Given the description of an element on the screen output the (x, y) to click on. 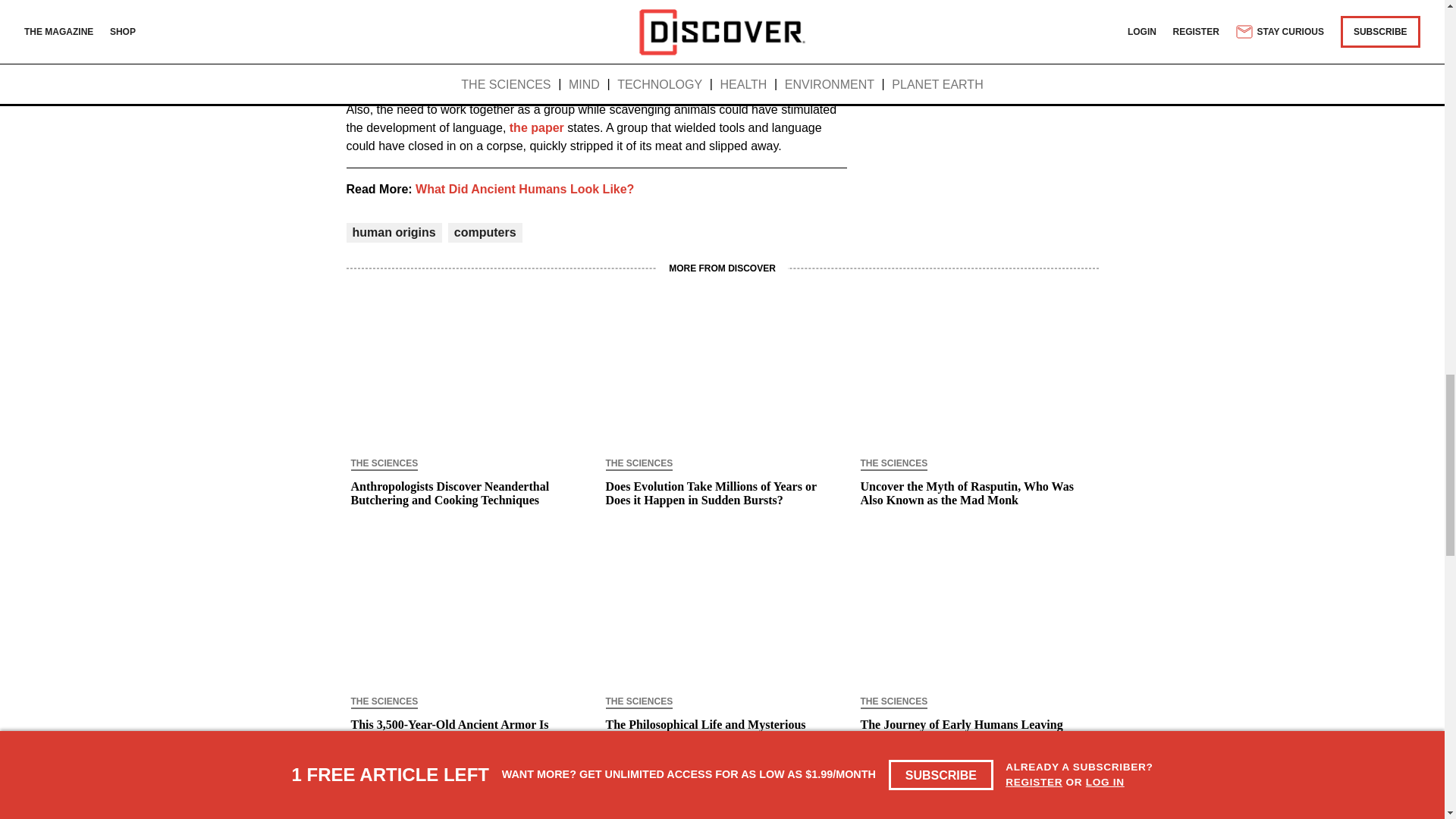
computers (485, 232)
the paper (536, 127)
human origins (393, 232)
What Did Ancient Humans Look Like? (523, 188)
